Given the description of an element on the screen output the (x, y) to click on. 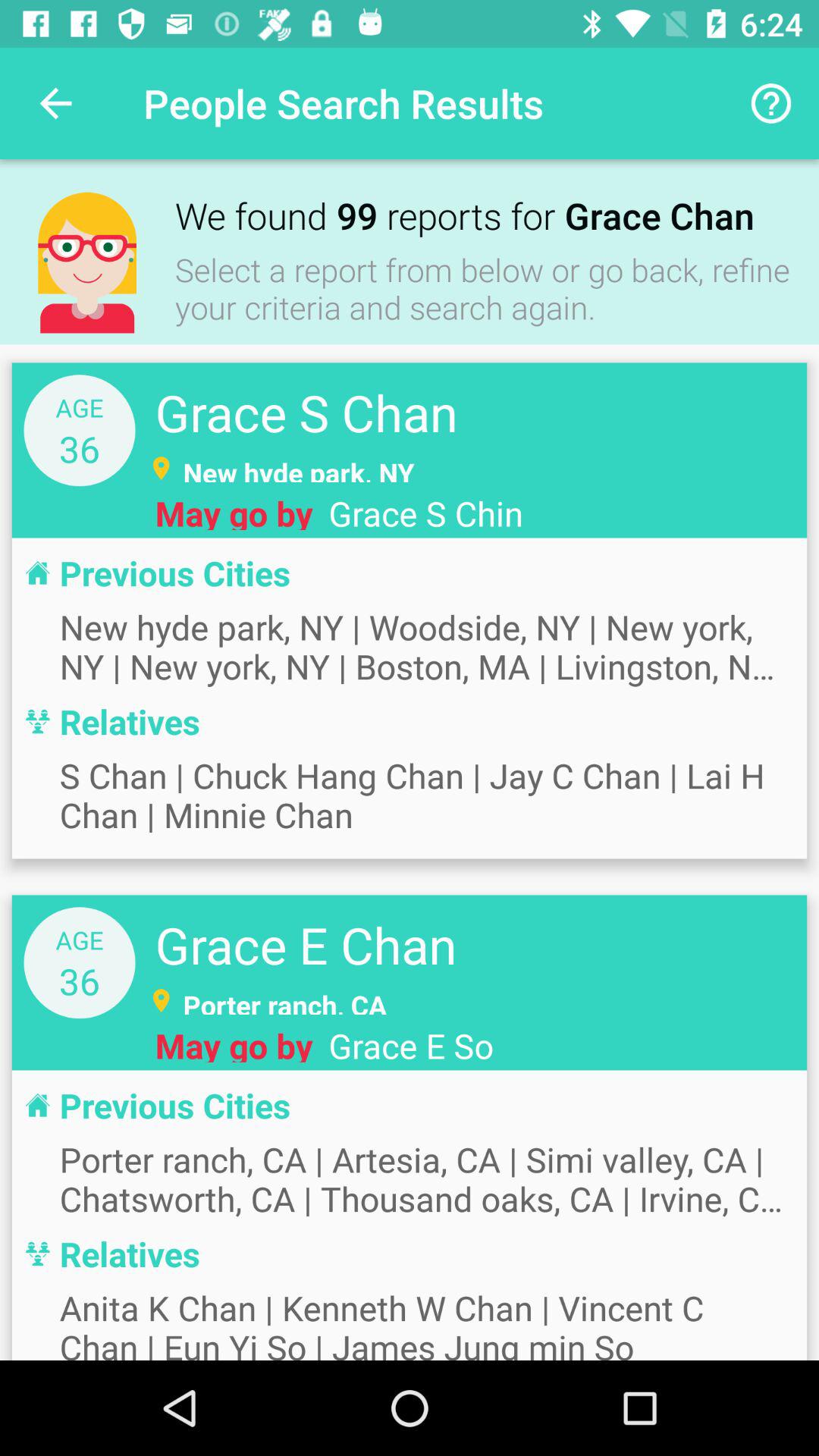
choose the icon above we found 99 item (771, 103)
